Given the description of an element on the screen output the (x, y) to click on. 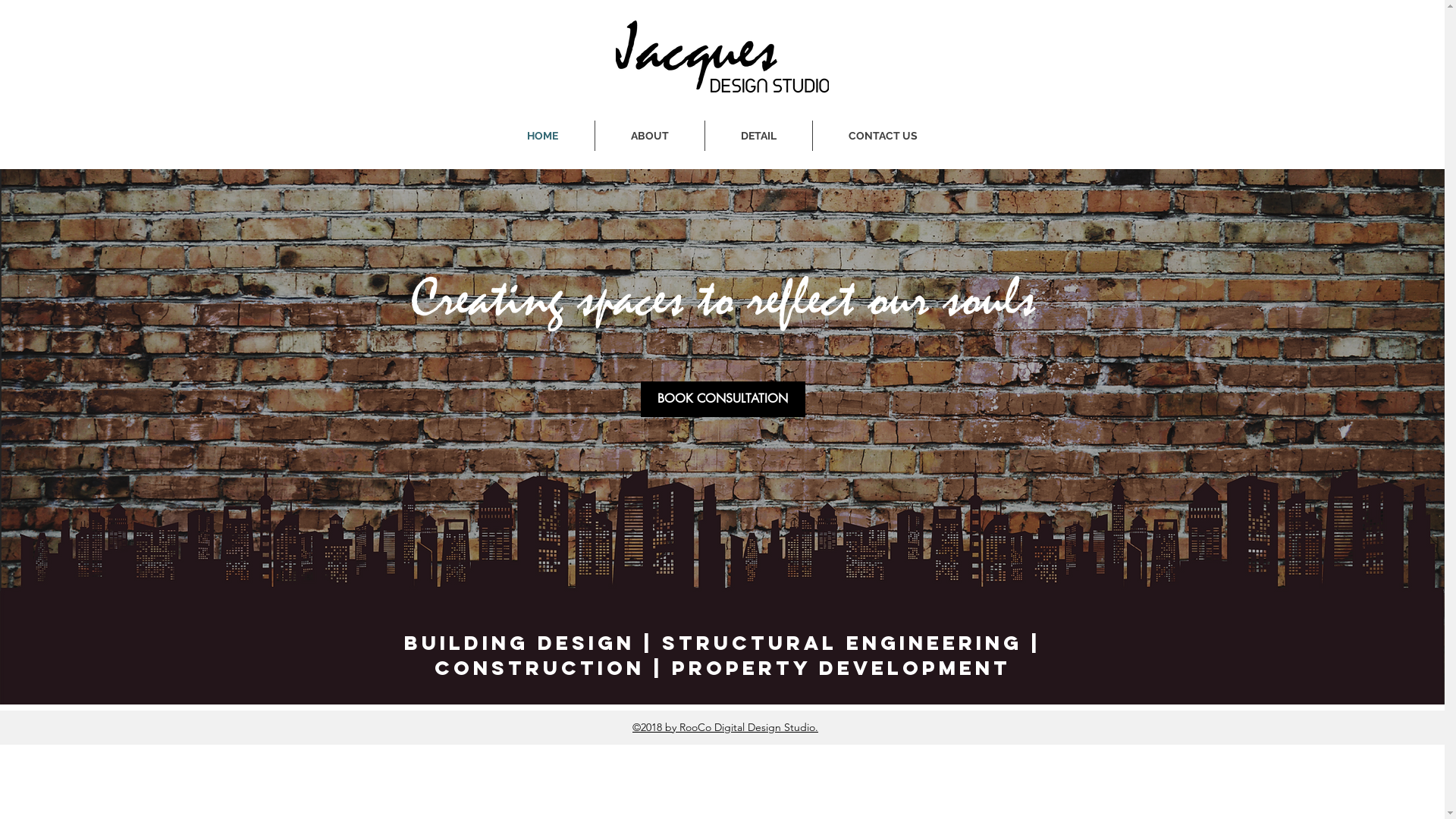
DETAIL Element type: text (758, 135)
ABOUT Element type: text (648, 135)
CONTACT US Element type: text (882, 135)
BOOK CONSULTATION Element type: text (722, 399)
HOME Element type: text (542, 135)
